Given the description of an element on the screen output the (x, y) to click on. 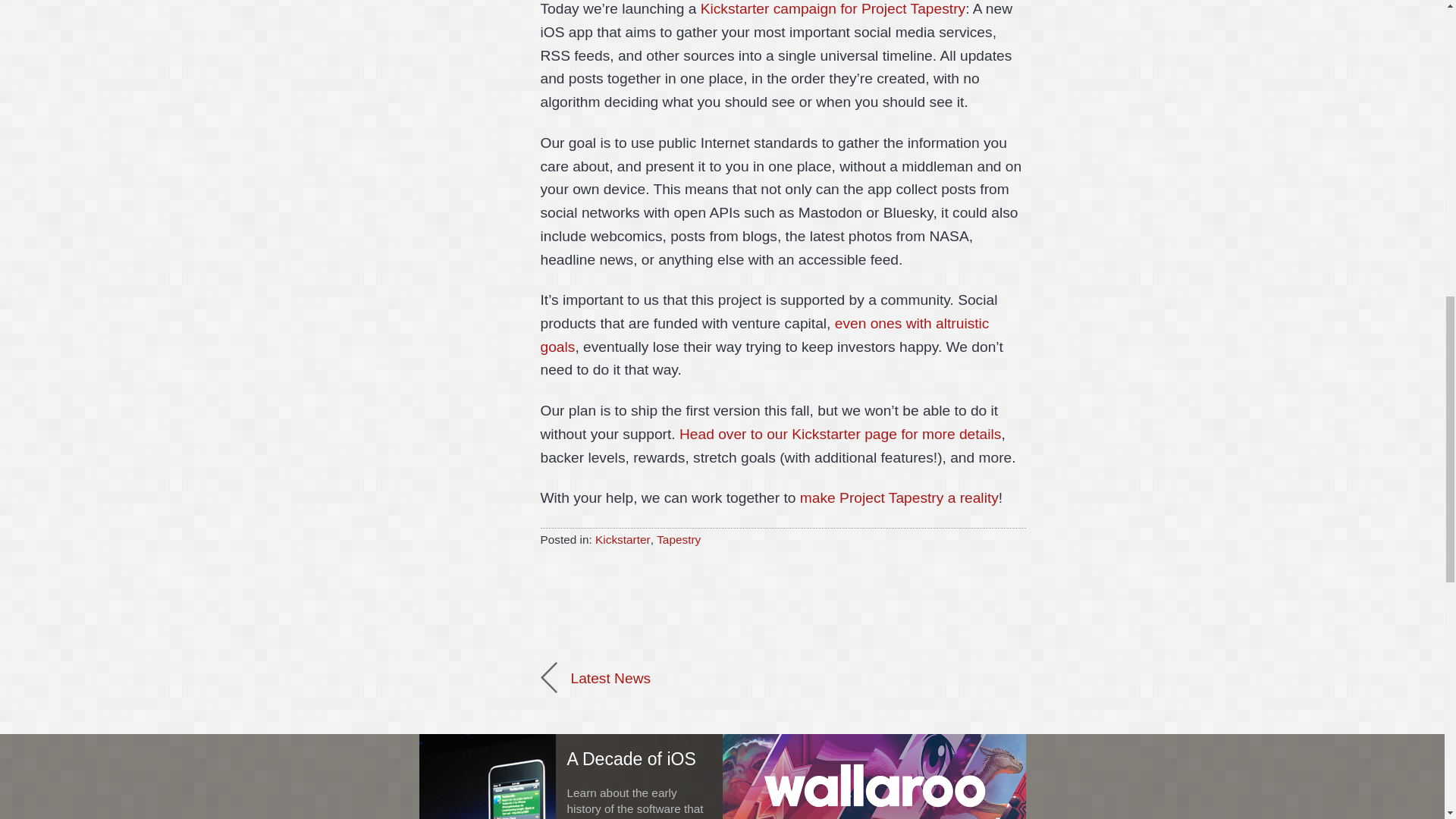
even ones with altruistic goals (764, 334)
make Project Tapestry a reality (898, 497)
Latest News (596, 677)
Kickstarter campaign for Project Tapestry (832, 8)
Head over to our Kickstarter page for more details (840, 433)
Kickstarter (622, 539)
A Decade of iOS (570, 755)
Tapestry (678, 539)
